Given the description of an element on the screen output the (x, y) to click on. 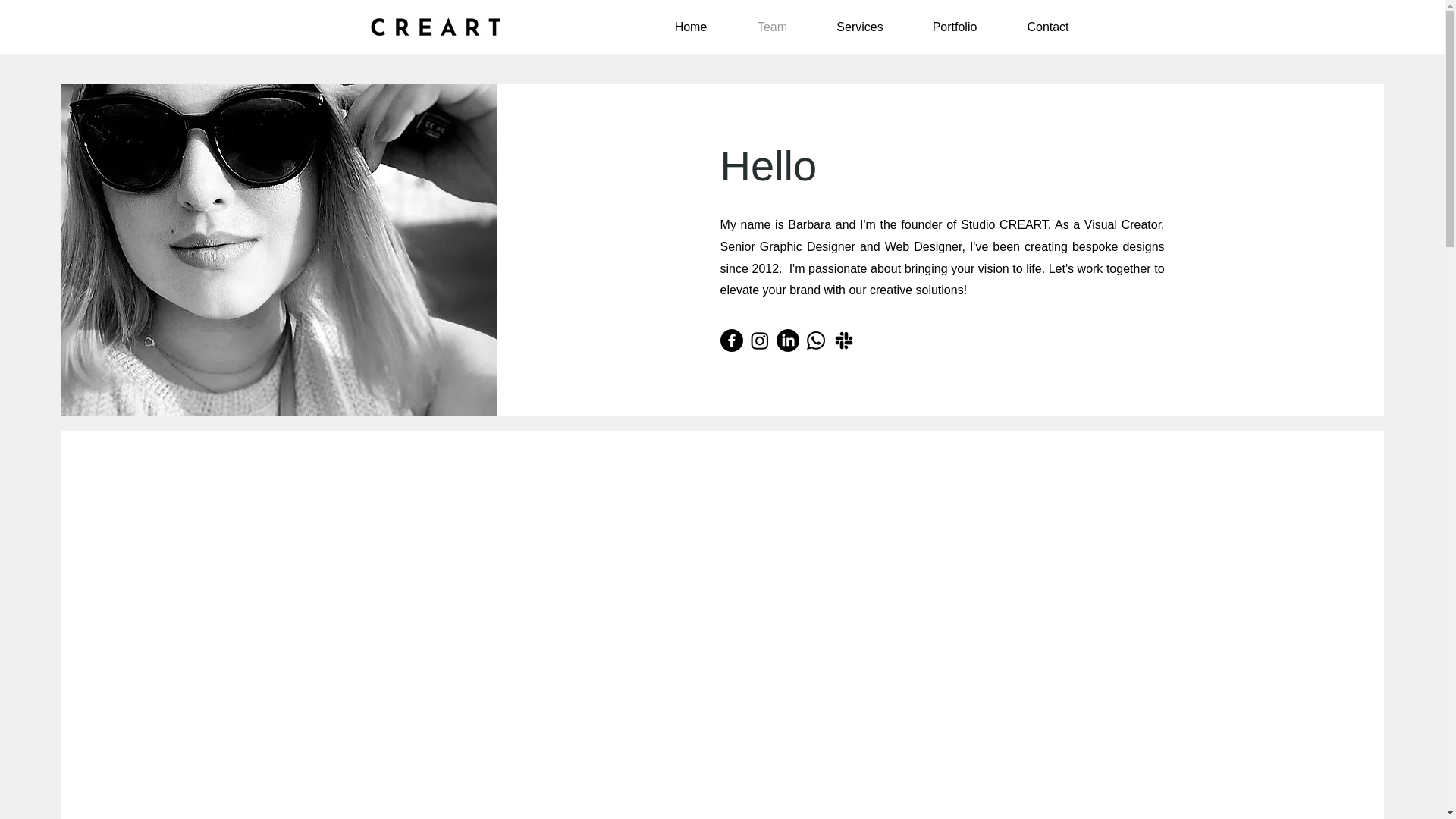
Team (772, 26)
Services (859, 26)
Contact (1048, 26)
Home (690, 26)
Portfolio (954, 26)
